Given the description of an element on the screen output the (x, y) to click on. 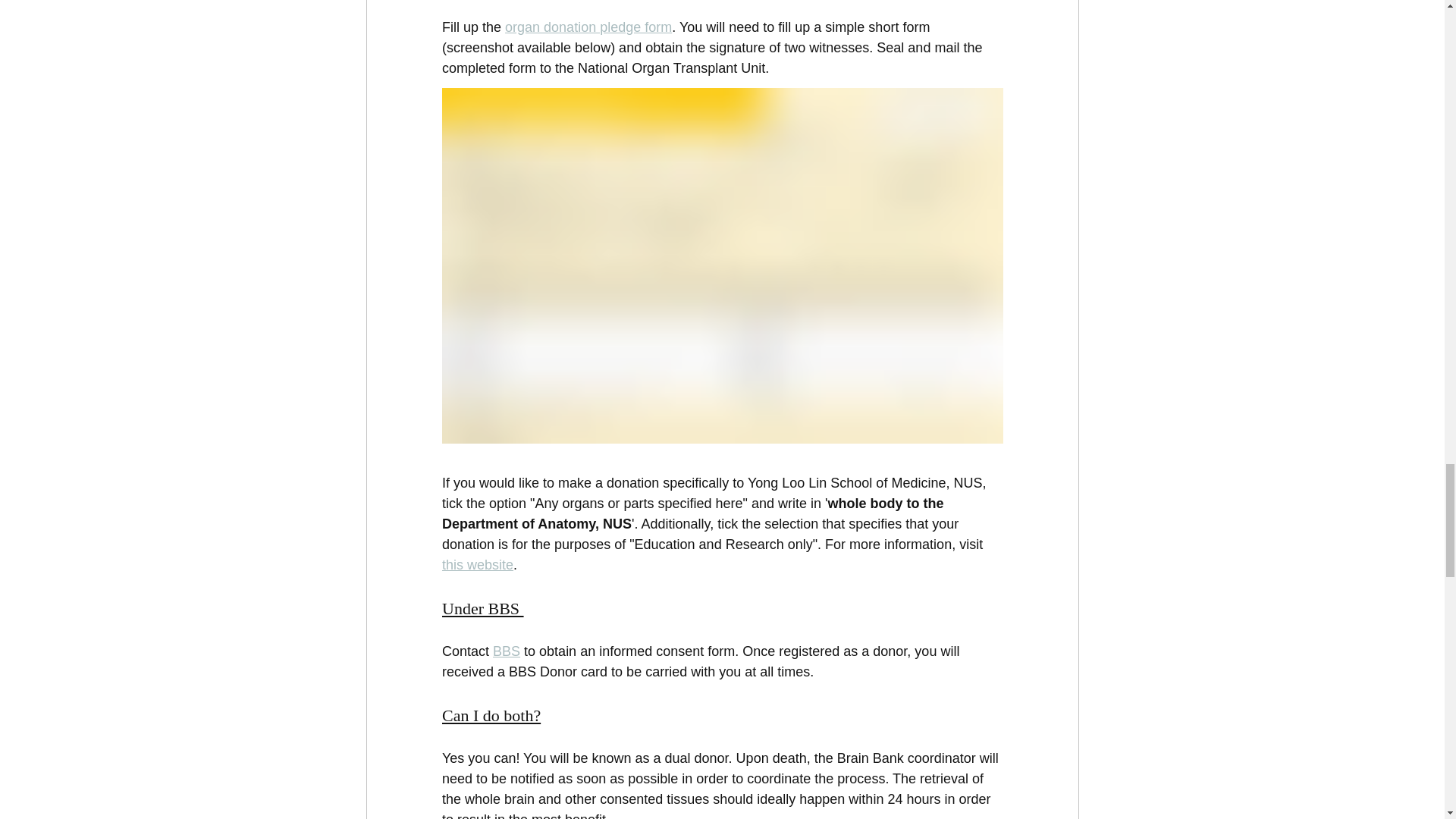
this website (476, 564)
organ donation pledge form (588, 27)
BBS (506, 651)
